Given the description of an element on the screen output the (x, y) to click on. 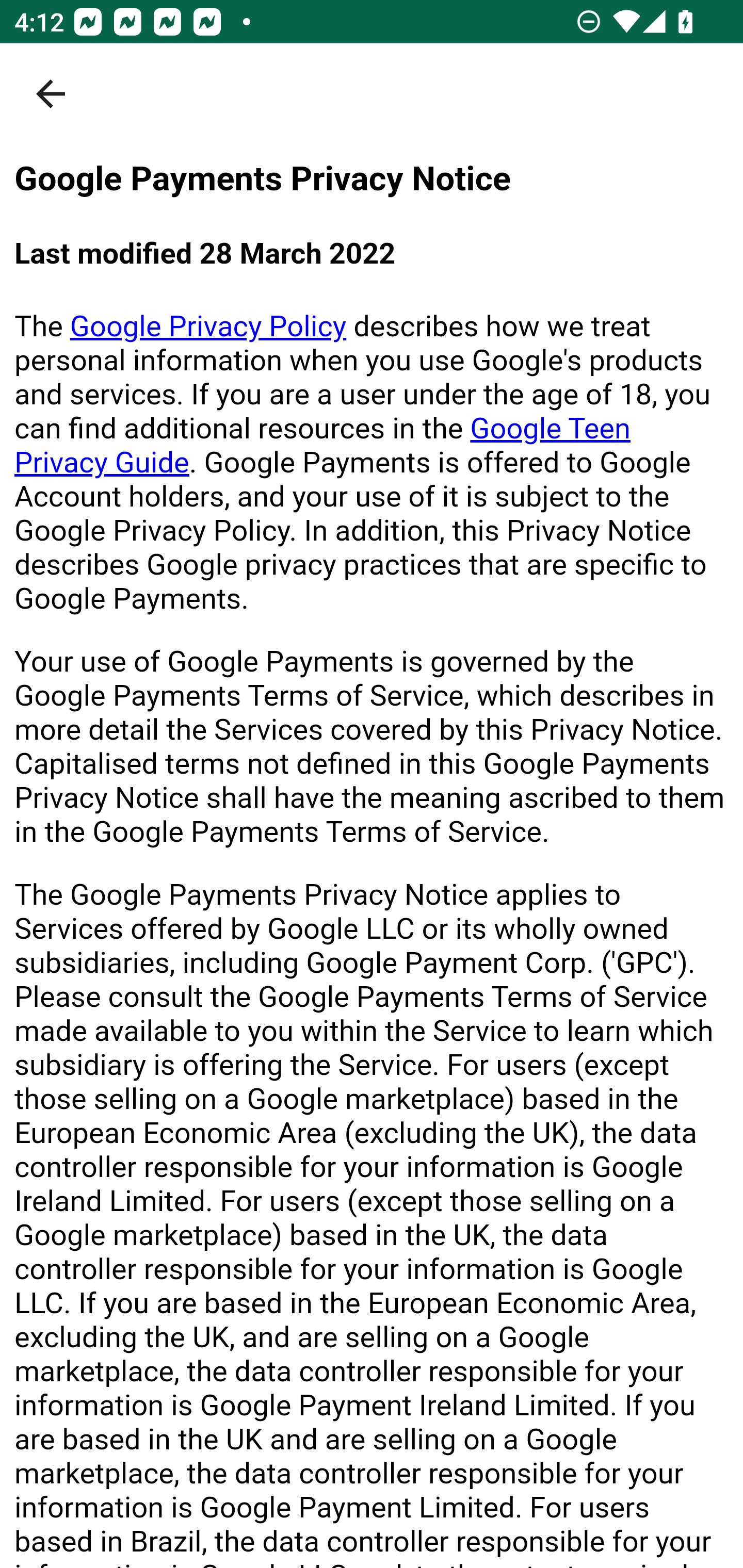
Navigate up (50, 93)
Google Privacy Policy (208, 326)
Google Teen Privacy Guide (323, 444)
